Given the description of an element on the screen output the (x, y) to click on. 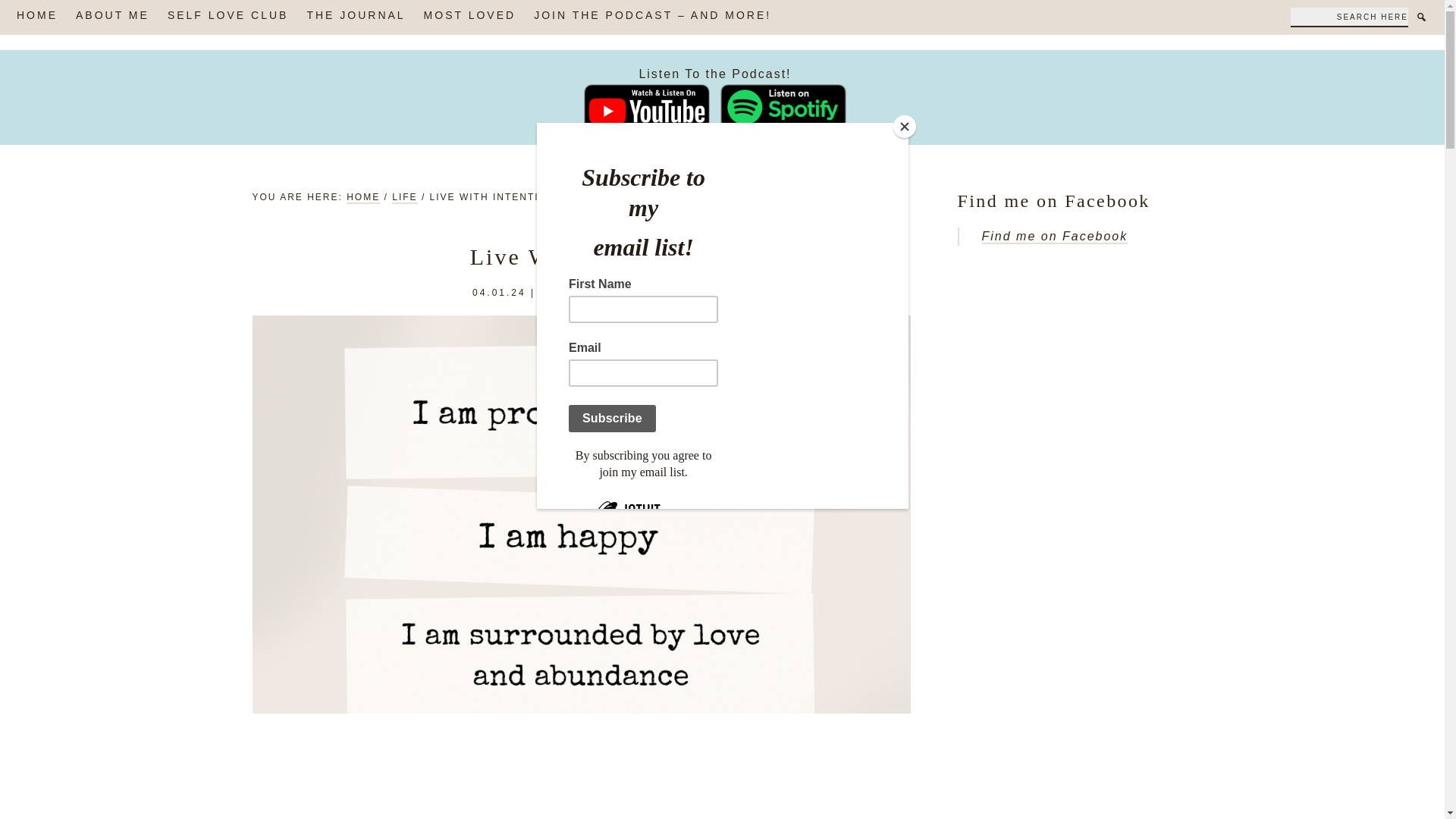
SELF LOVE CLUB (227, 17)
LAURA (560, 293)
HOME (37, 17)
HOME (363, 197)
Find me on Facebook (1053, 237)
Find me on Facebook (1053, 200)
NO COMMENTS (642, 293)
MOST LOVED (469, 17)
ABOUT ME (112, 17)
LIFE (403, 197)
